Given the description of an element on the screen output the (x, y) to click on. 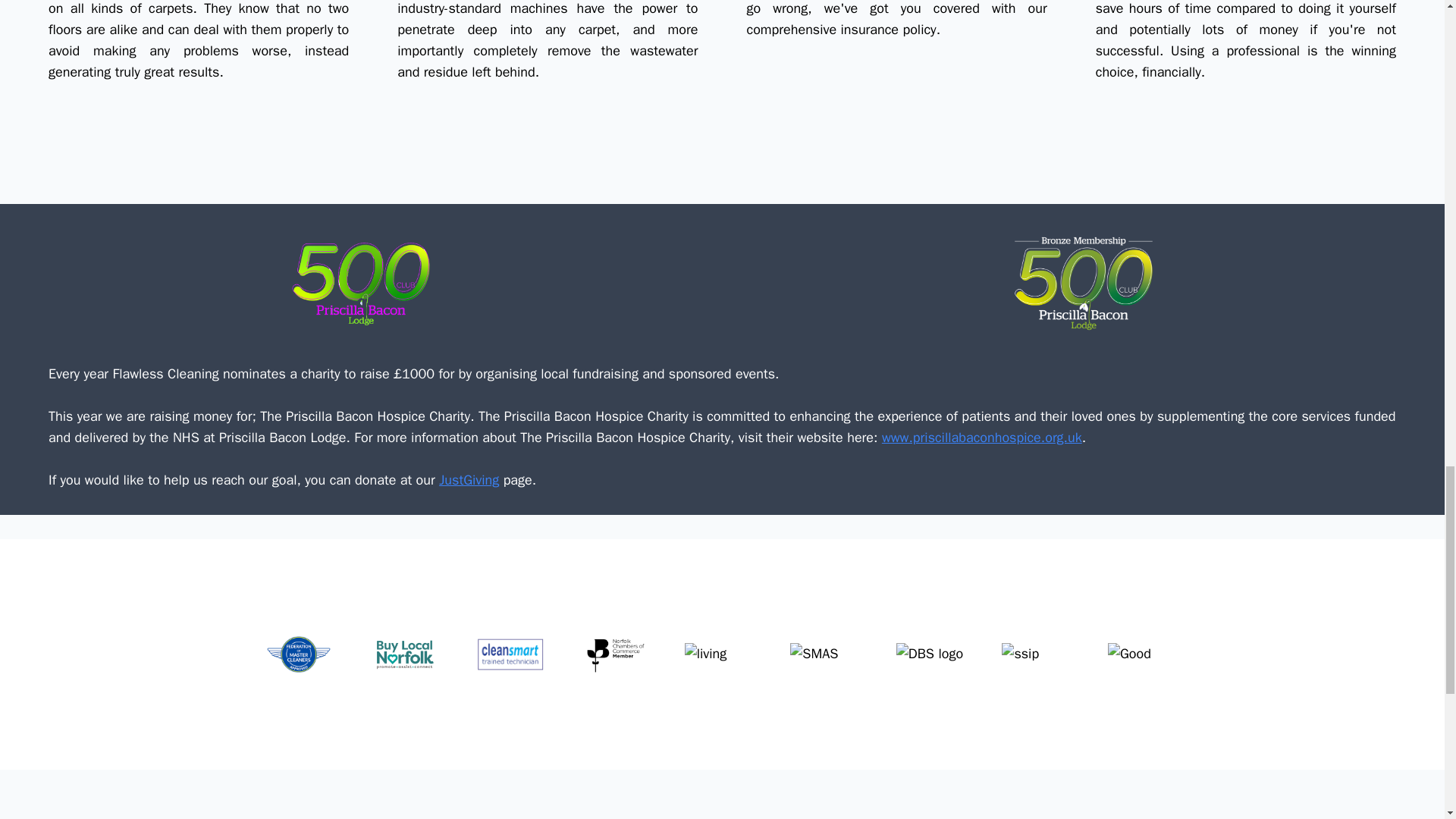
www.priscillabaconhospice.org.uk (981, 437)
JustGiving (469, 479)
